Given the description of an element on the screen output the (x, y) to click on. 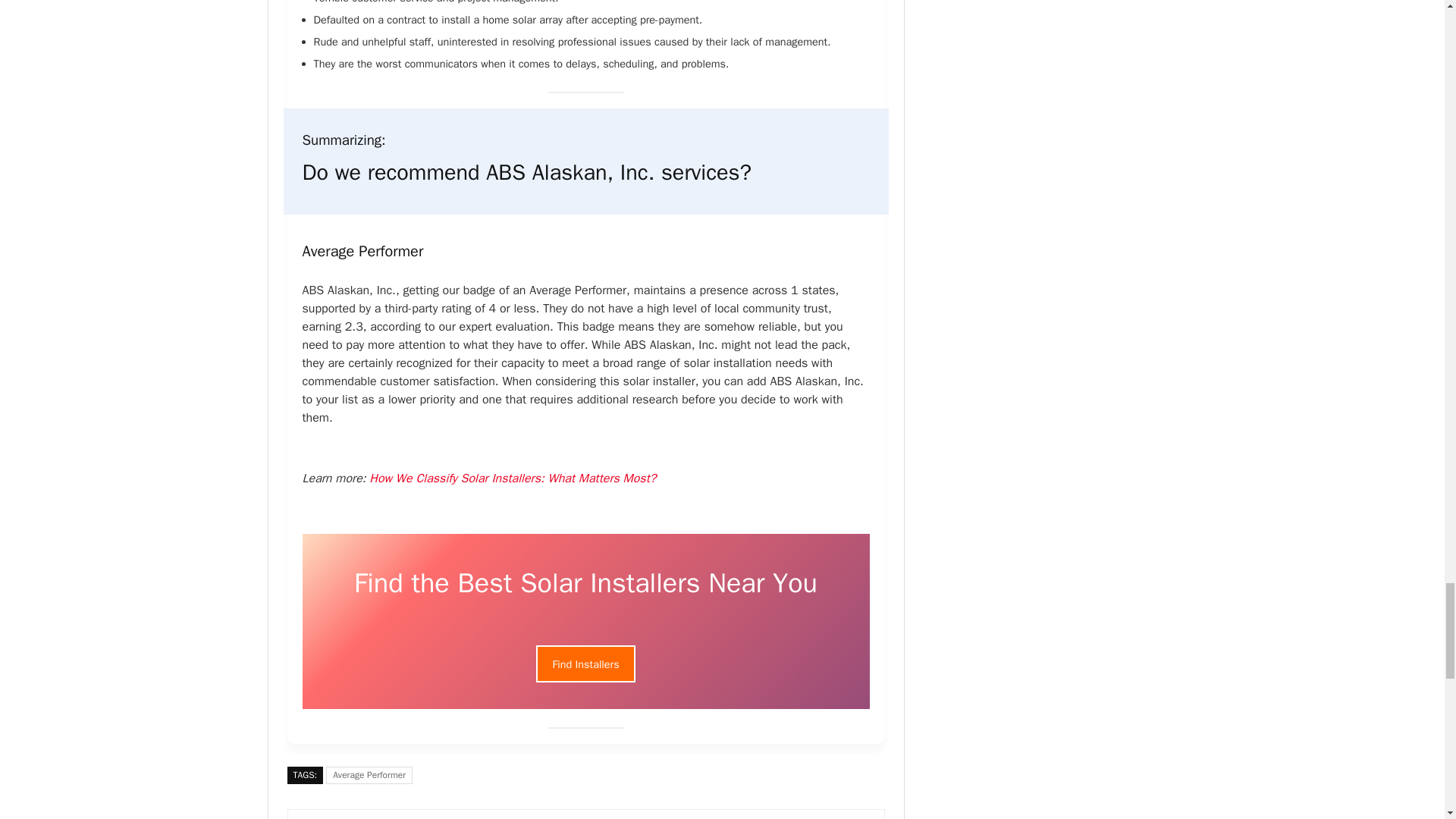
ABS Alaskan, Inc. review 2 (585, 621)
